Given the description of an element on the screen output the (x, y) to click on. 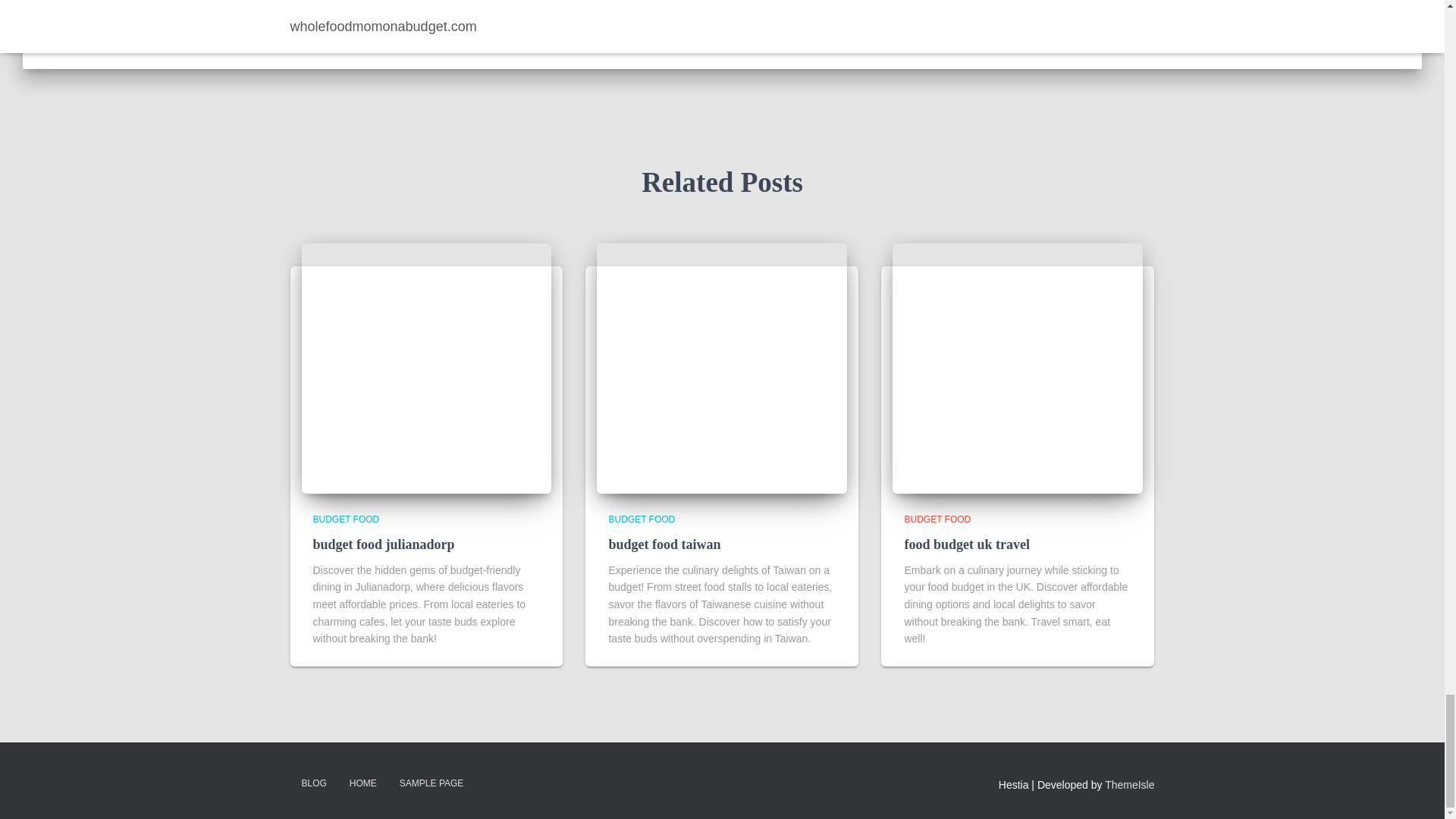
budget food taiwan (664, 544)
View all posts in Budget Food (345, 519)
View all posts in Budget Food (641, 519)
budget food julianadorp (383, 544)
budget food julianadorp (426, 368)
budget food taiwan (721, 368)
